Given the description of an element on the screen output the (x, y) to click on. 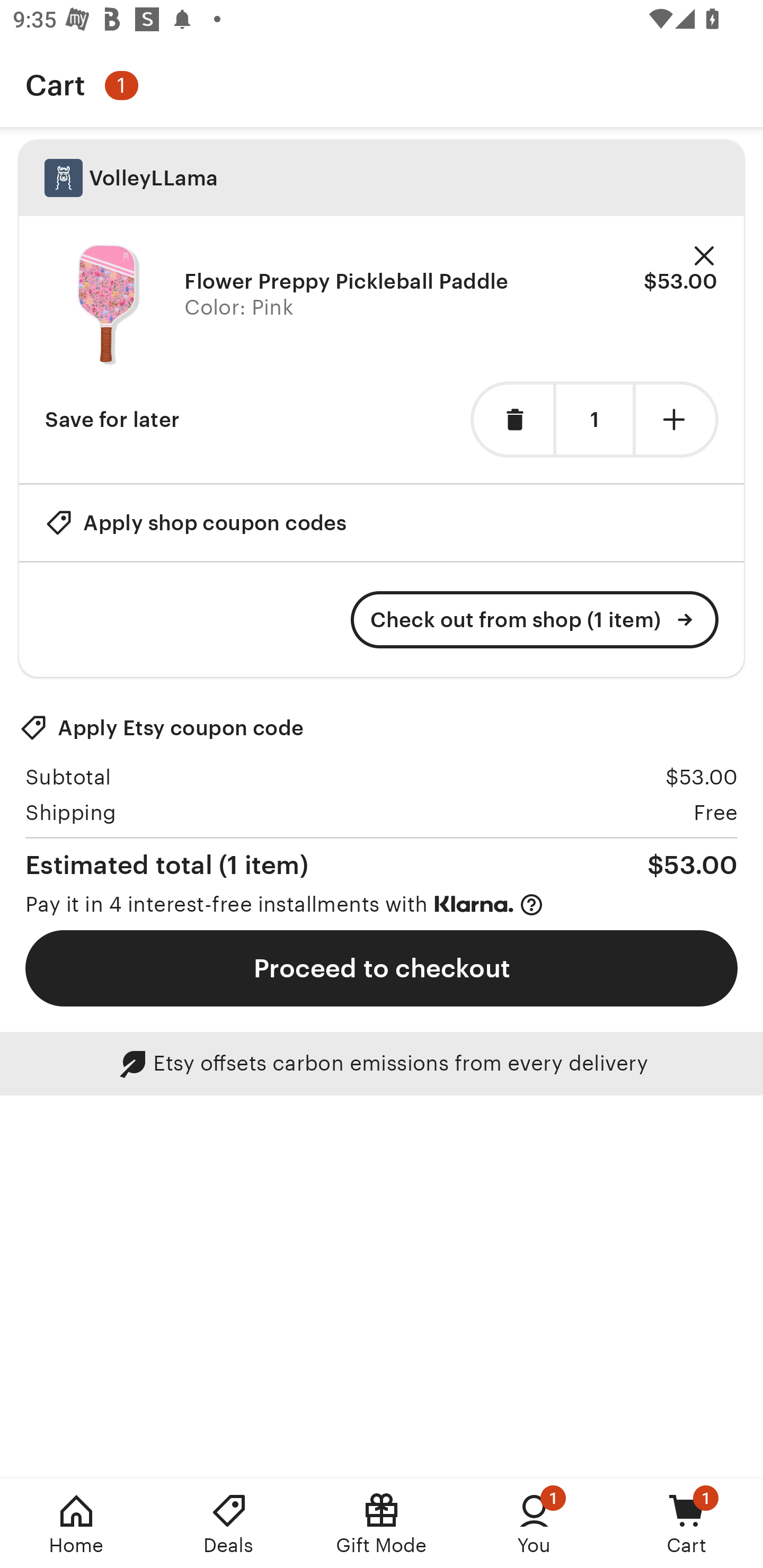
VolleyLLama (381, 177)
Remove (704, 255)
Flower Preppy Pickleball Paddle (107, 304)
Flower Preppy Pickleball Paddle (346, 281)
Save for later (112, 419)
Remove item from cart (511, 419)
Add one unit to cart (676, 419)
1 (594, 419)
Apply shop coupon codes (195, 522)
Check out from shop (1 item) (534, 619)
Apply Etsy coupon code (161, 727)
Proceed to checkout (381, 967)
Home (76, 1523)
Deals (228, 1523)
Gift Mode (381, 1523)
You, 1 new notification You (533, 1523)
